Given the description of an element on the screen output the (x, y) to click on. 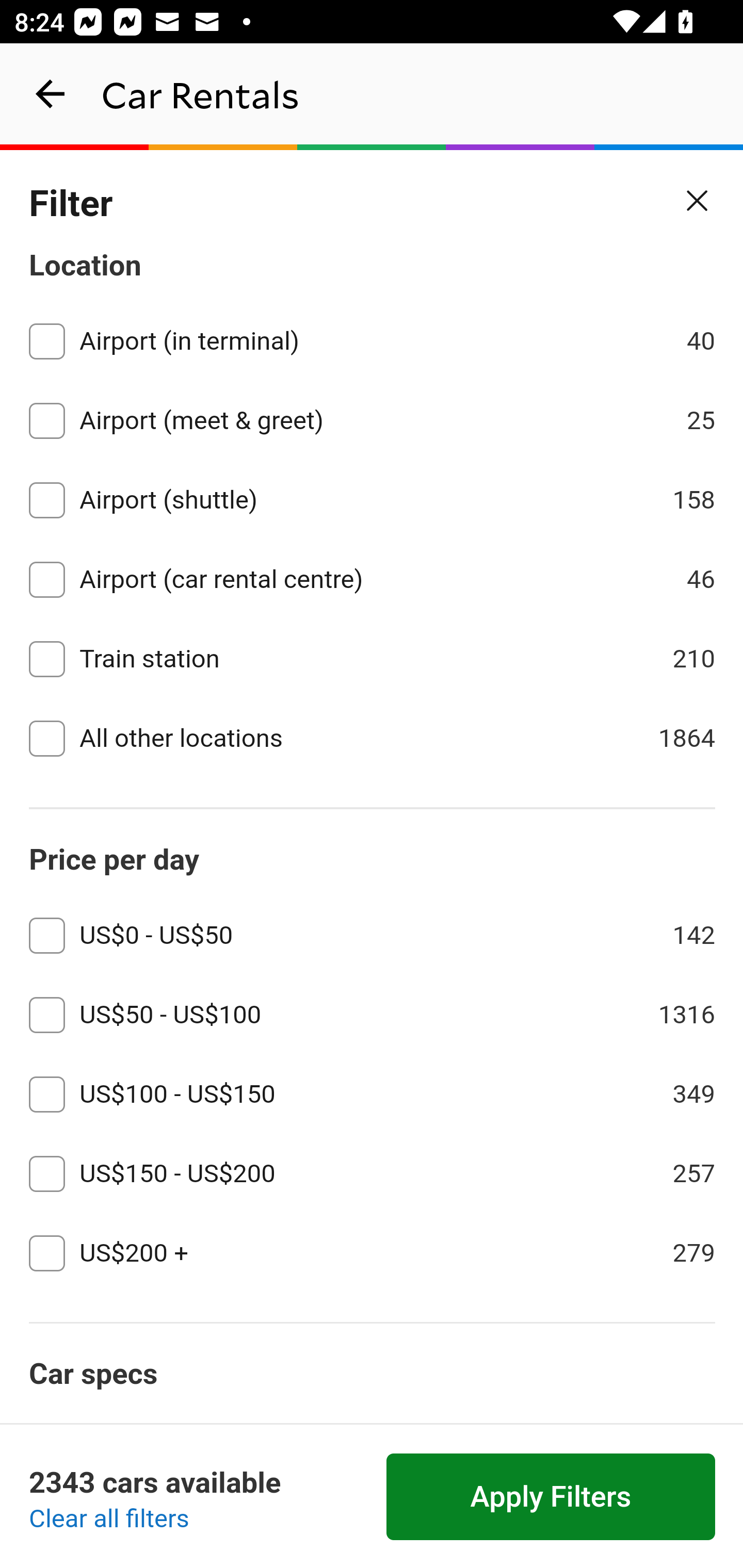
navigation_button (50, 93)
Close (697, 201)
Apply Filters (551, 1497)
Clear all filters (108, 1519)
